Given the description of an element on the screen output the (x, y) to click on. 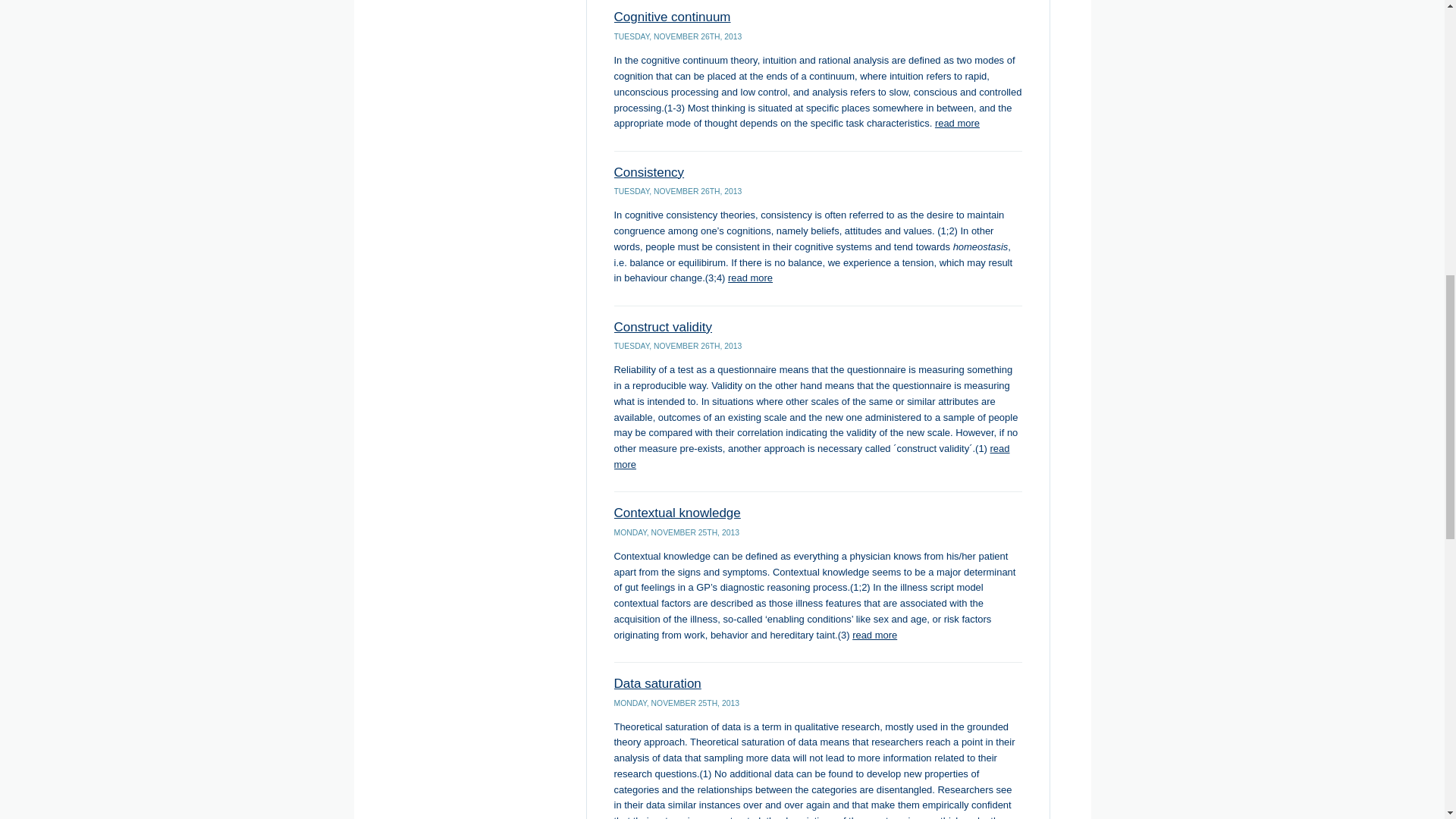
Permalink to Data saturation (657, 683)
Construct validity (662, 327)
Permalink to Cognitive continuum (672, 16)
Consistency (649, 172)
Cognitive continuum (672, 16)
Permalink to Construct validity (662, 327)
read more (873, 634)
read more (812, 456)
Data saturation (657, 683)
Permalink to Contextual knowledge (677, 513)
